Given the description of an element on the screen output the (x, y) to click on. 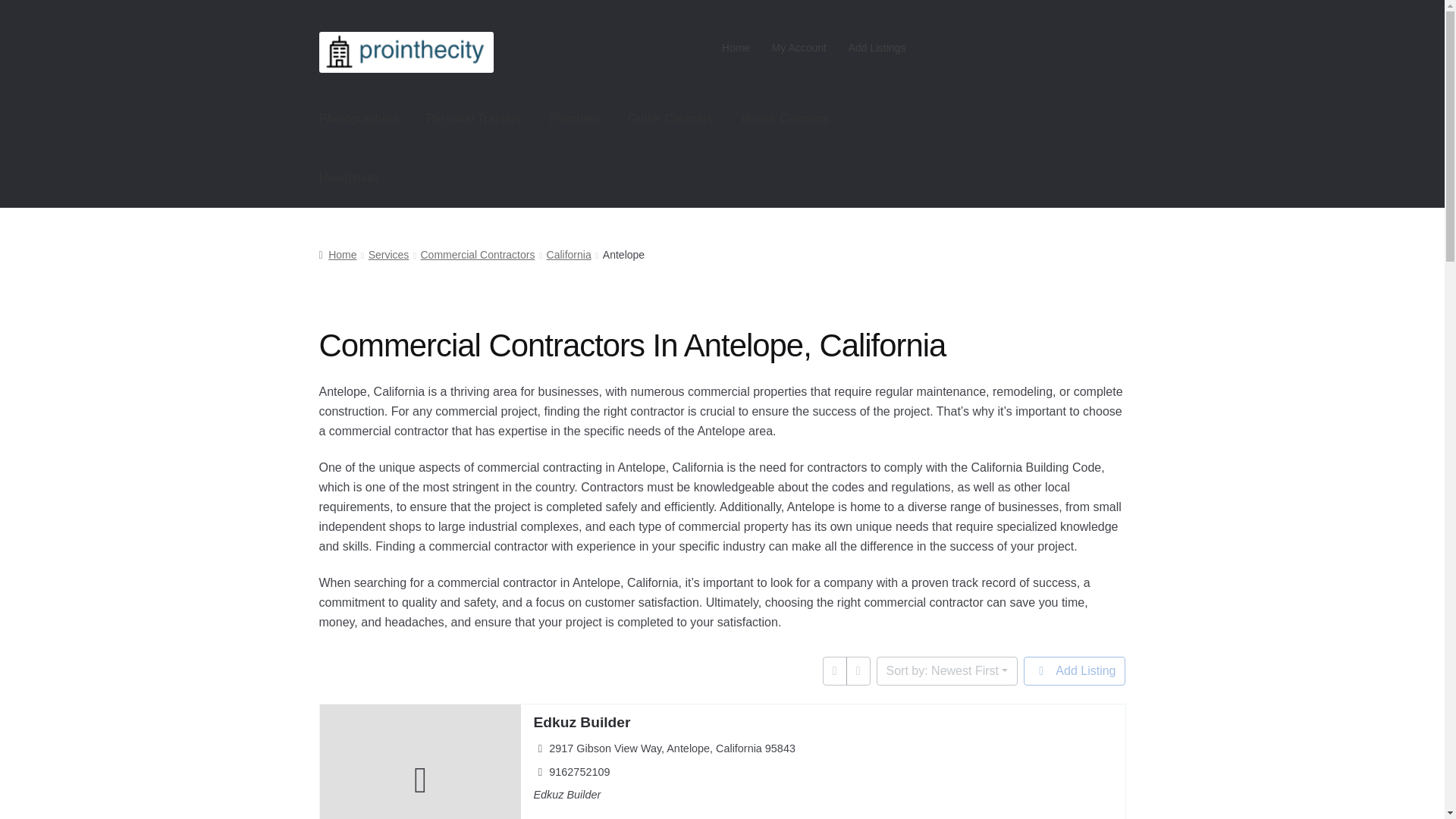
Sort by: Newest First (946, 670)
Edkuz Builder (581, 722)
Home (736, 47)
Personal Trainers (472, 118)
Home (337, 254)
Handyman (348, 178)
My Account (798, 47)
Gutter Cleaners (670, 118)
Plumbers (574, 118)
